Given the description of an element on the screen output the (x, y) to click on. 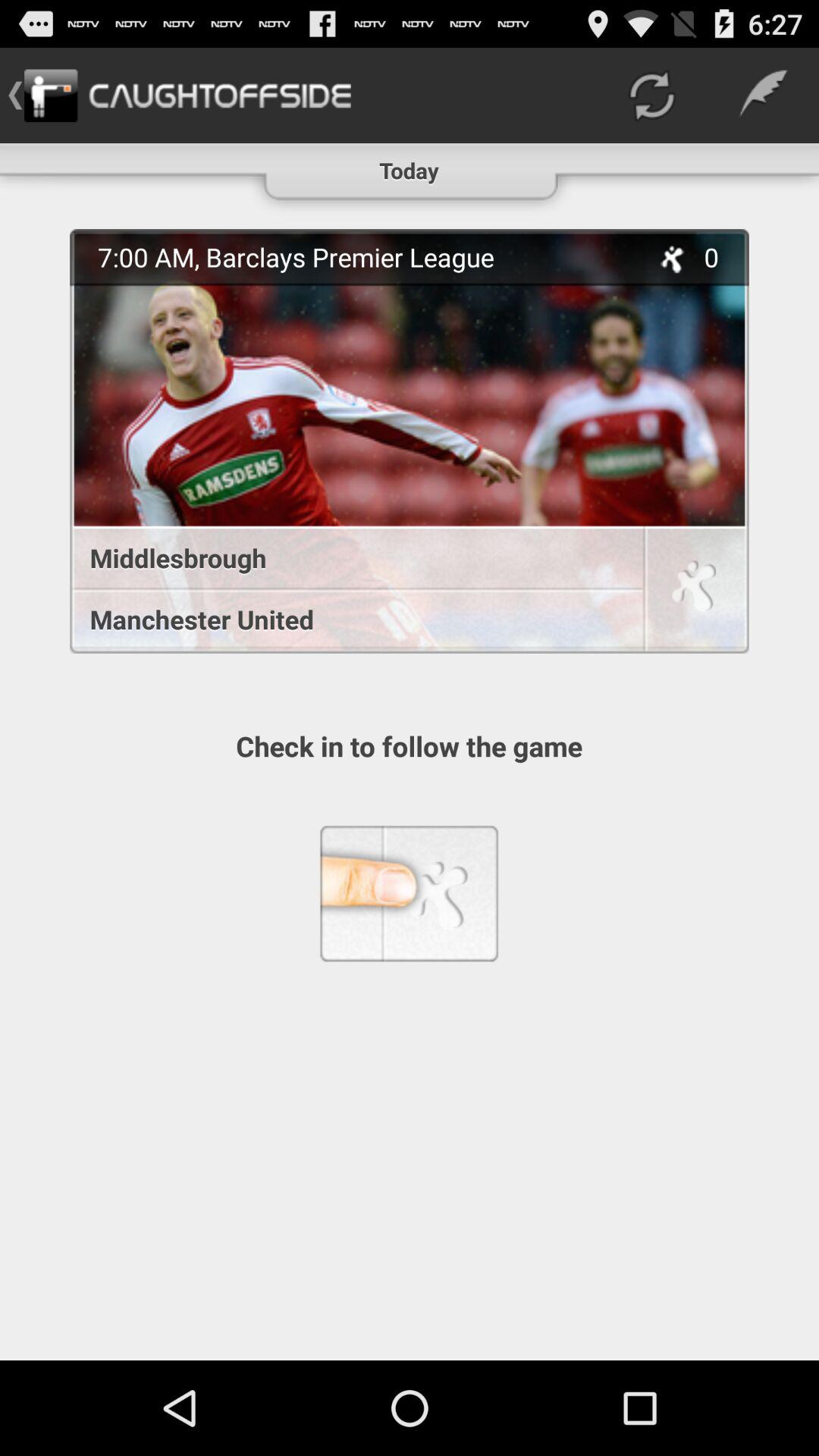
jump until today app (409, 164)
